Given the description of an element on the screen output the (x, y) to click on. 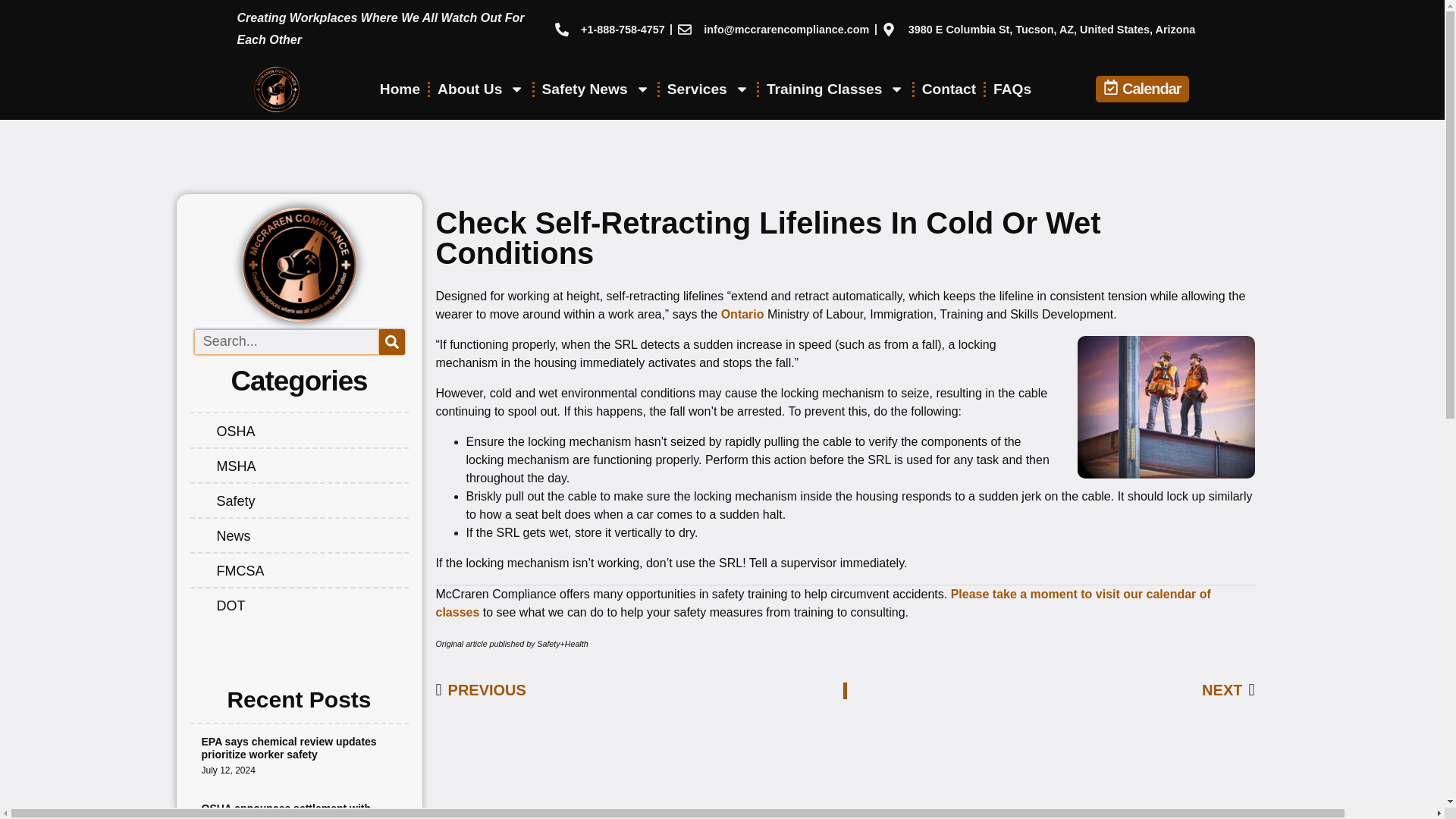
FAQs (1012, 88)
About Us (480, 88)
Safety News (596, 88)
3980 E Columbia St, Tucson, AZ, United States, Arizona (1038, 29)
Training Classes (835, 88)
Home (400, 88)
Services (708, 88)
Contact (949, 88)
